Given the description of an element on the screen output the (x, y) to click on. 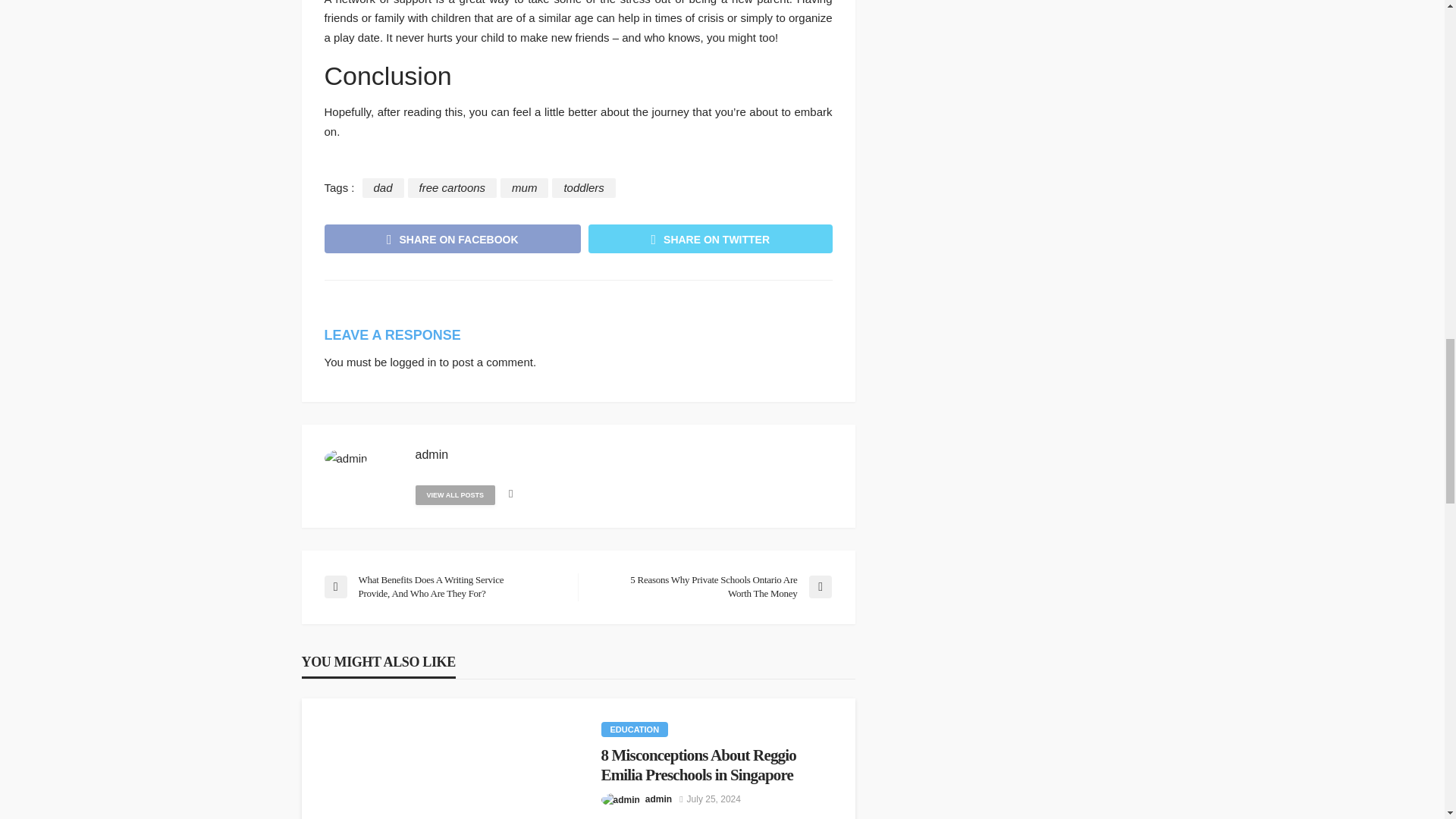
free cartoons (452, 188)
dad (383, 188)
mum (524, 188)
toddlers (582, 188)
